Given the description of an element on the screen output the (x, y) to click on. 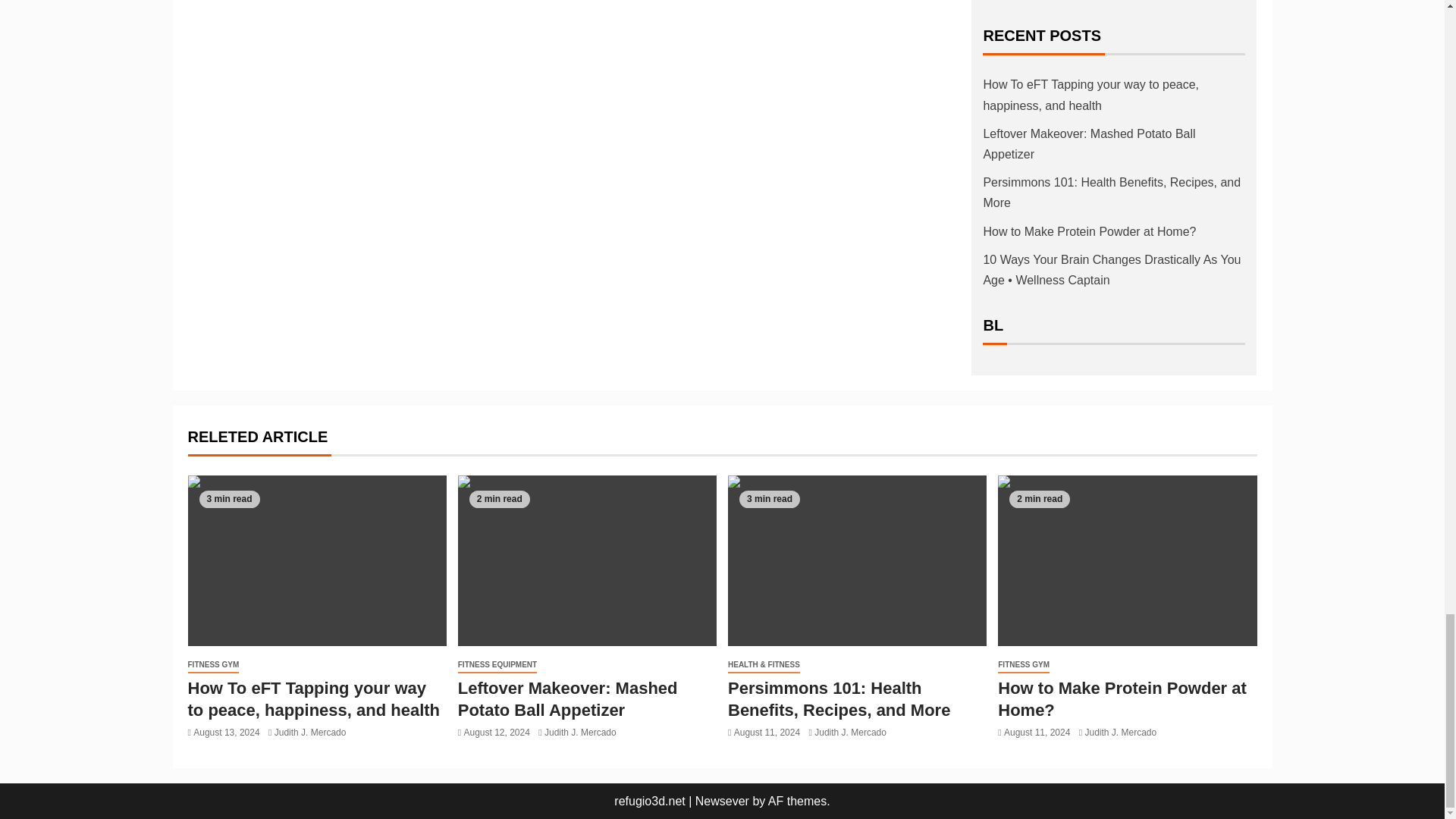
Leftover Makeover: Mashed Potato Ball Appetizer (587, 560)
How To eFT Tapping your way to peace, happiness, and health (316, 560)
Persimmons 101: Health Benefits, Recipes, and More (857, 560)
